Given the description of an element on the screen output the (x, y) to click on. 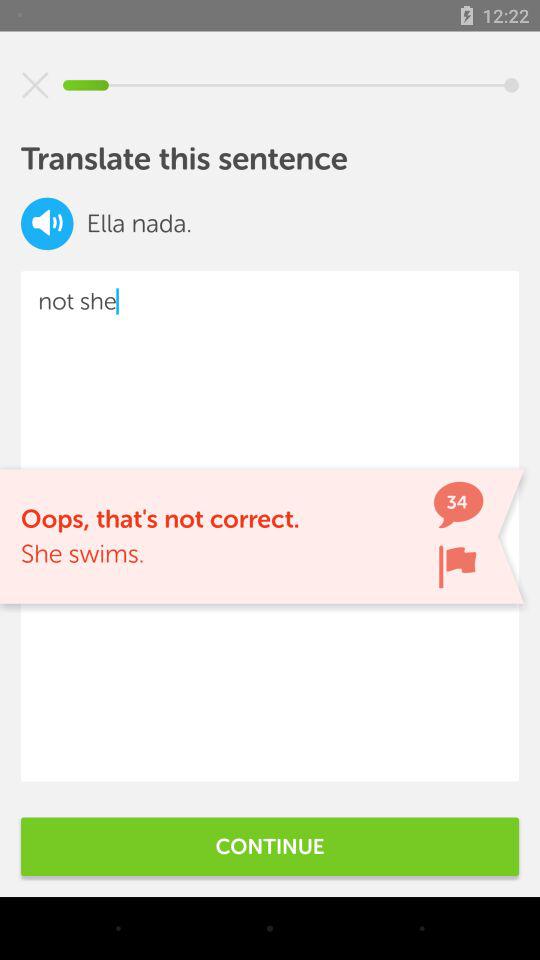
click item above the not she item (47, 223)
